Given the description of an element on the screen output the (x, y) to click on. 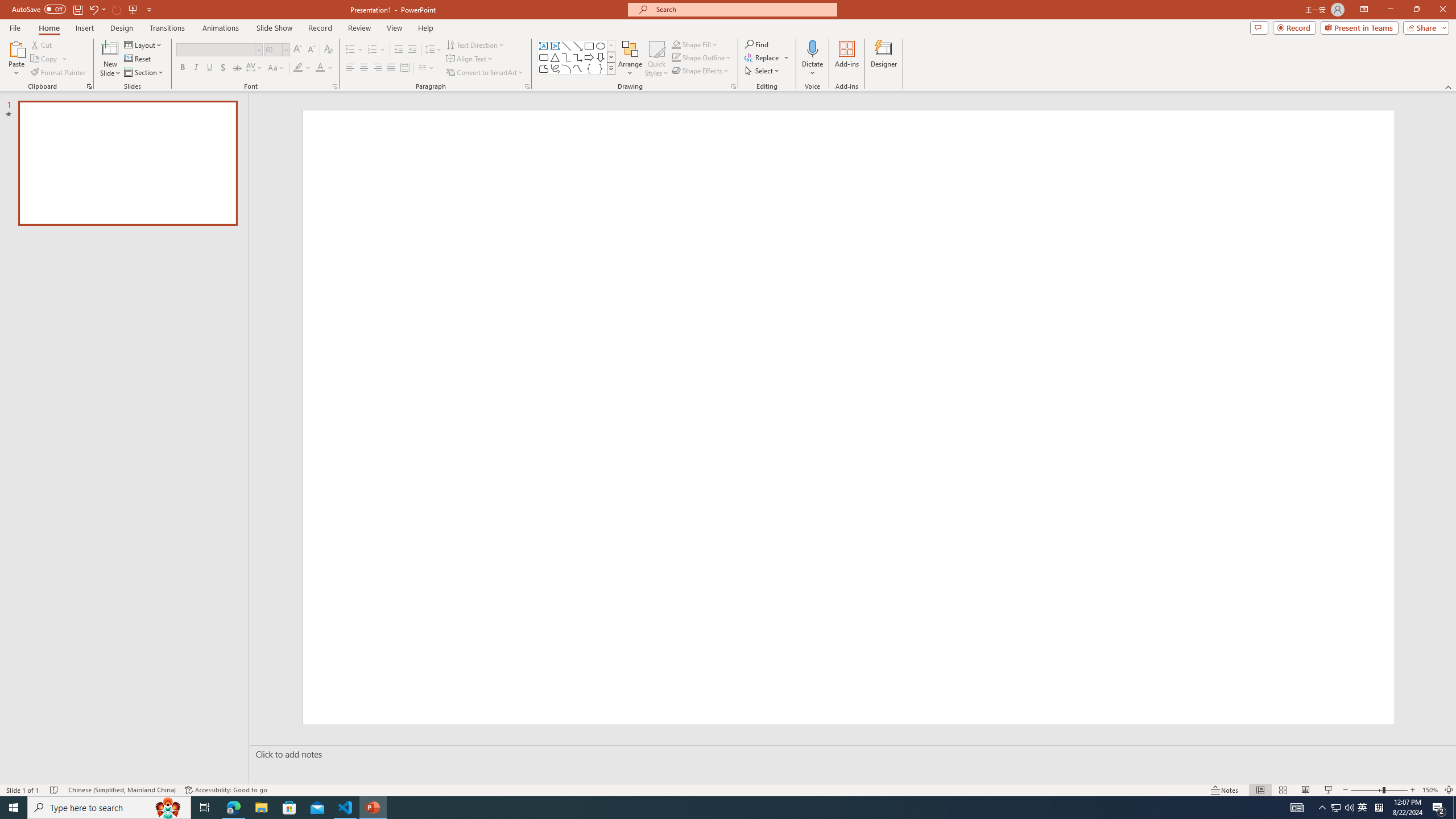
Shapes (611, 68)
Format Object... (733, 85)
Freeform: Shape (543, 68)
Shape Outline Blue, Accent 1 (675, 56)
Rectangle: Rounded Corners (543, 57)
Center (363, 67)
Curve (577, 68)
Italic (195, 67)
Accessibility Checker Accessibility: Good to go (226, 790)
